Given the description of an element on the screen output the (x, y) to click on. 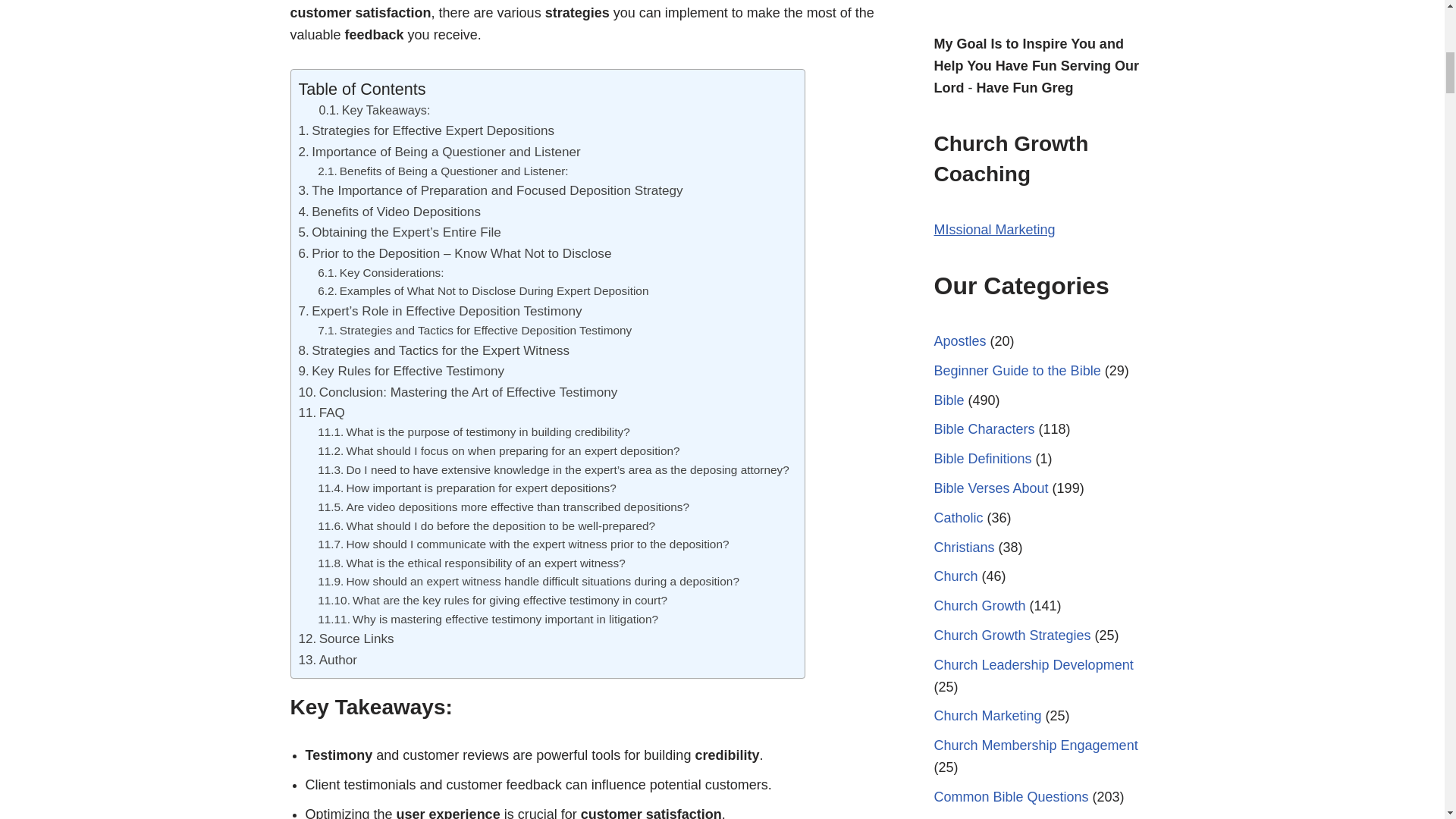
Examples of What Not to Disclose During Expert Deposition (482, 291)
Benefits of Video Depositions (389, 211)
Strategies and Tactics for Effective Deposition Testimony (474, 330)
Key Considerations: (380, 272)
Strategies for Effective Expert Depositions (426, 130)
Strategies and Tactics for the Expert Witness (434, 350)
Conclusion: Mastering the Art of Effective Testimony (457, 392)
FAQ (321, 412)
Importance of Being a Questioner and Listener (439, 151)
Key Takeaways: (373, 110)
Benefits of Being a Questioner and Listener: (442, 171)
Key Rules for Effective Testimony (401, 371)
